Given the description of an element on the screen output the (x, y) to click on. 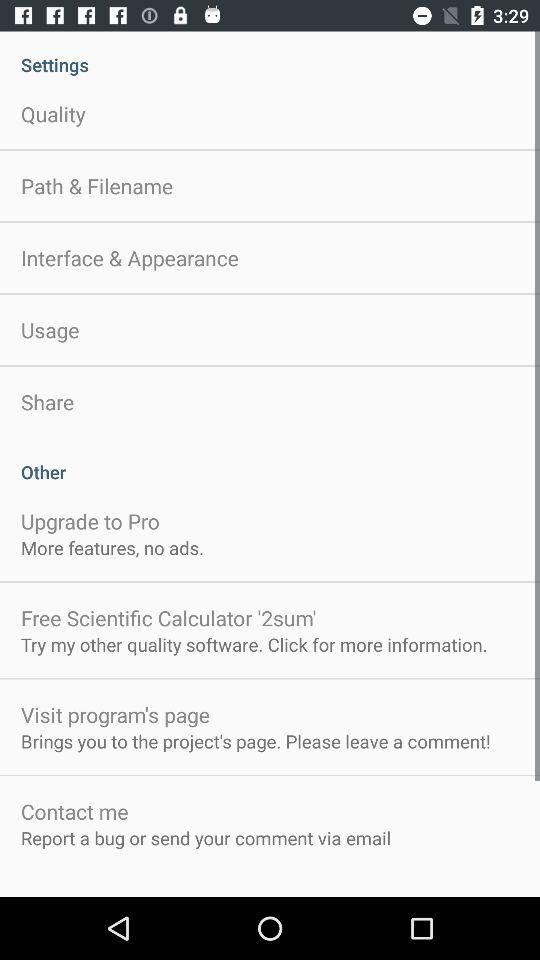
flip until the interface & appearance app (129, 257)
